Given the description of an element on the screen output the (x, y) to click on. 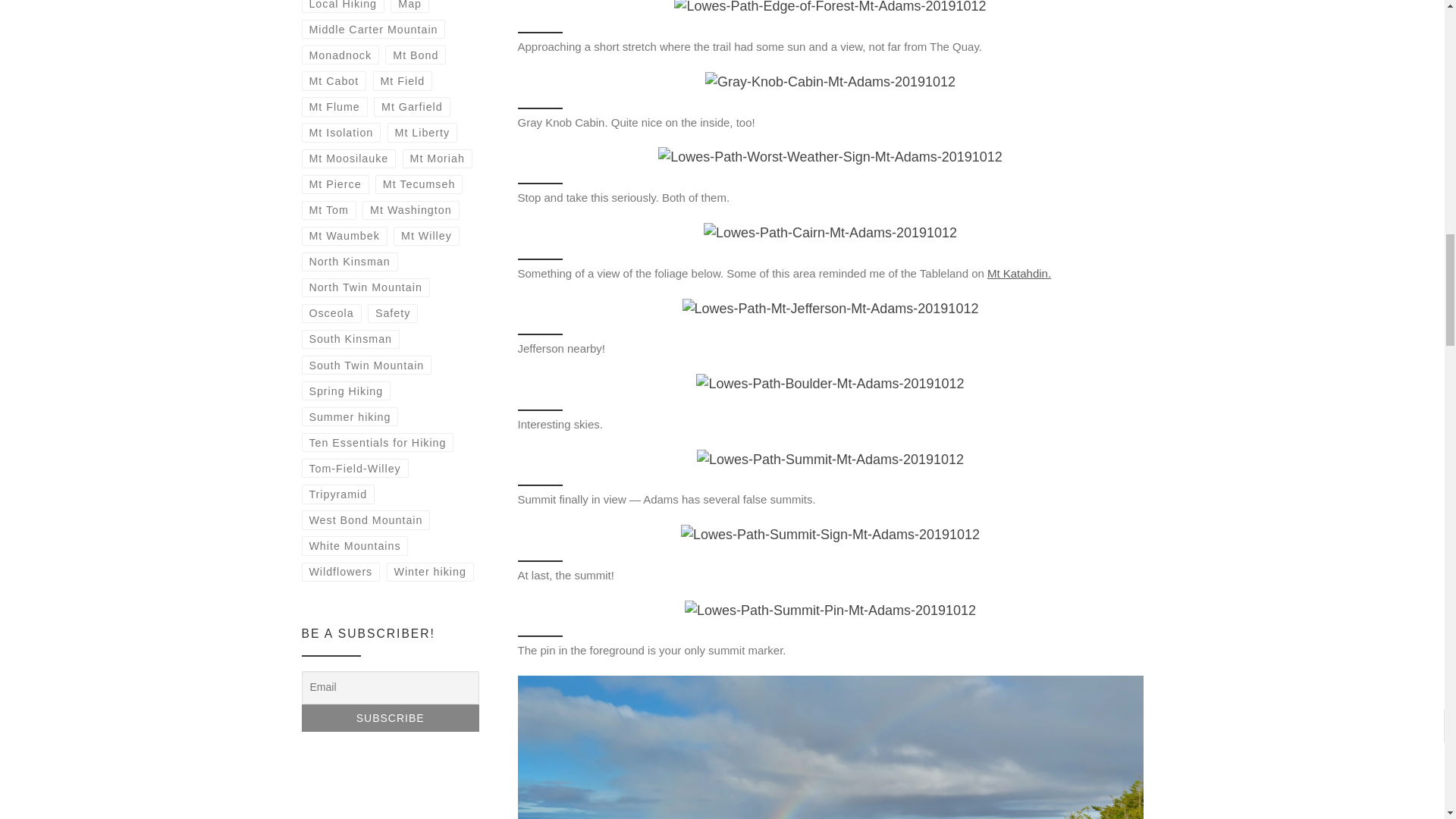
Subscribe (390, 718)
